Given the description of an element on the screen output the (x, y) to click on. 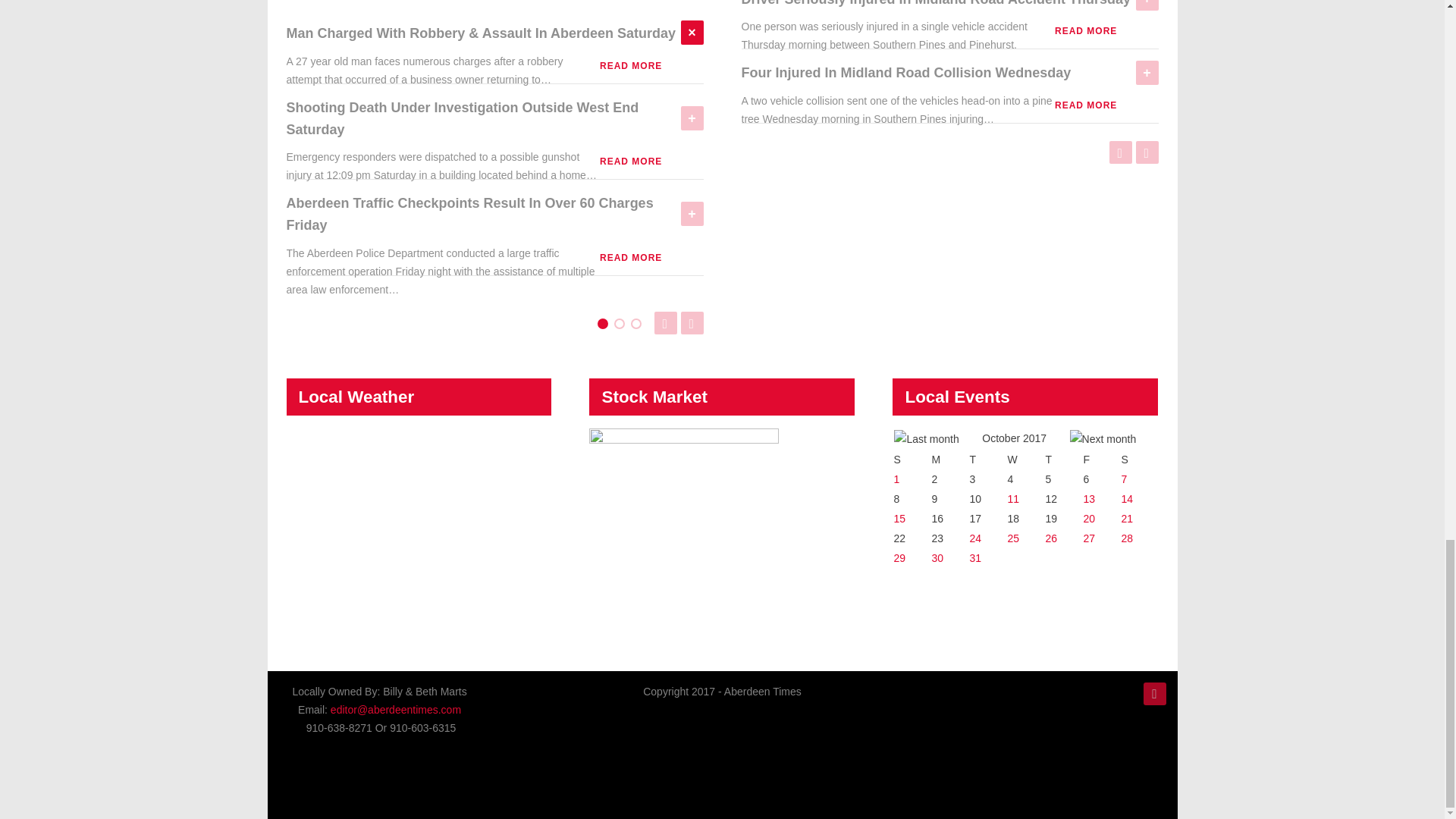
Previous month (925, 438)
Next month (1103, 438)
Go to calendar - current day (1088, 499)
READ MORE (630, 65)
READ MORE (630, 257)
Go to calendar - current day (1126, 518)
Go to calendar - current day (899, 518)
Go to calendar - current day (1126, 499)
READ MORE (630, 161)
Go to calendar - current day (975, 538)
